Given the description of an element on the screen output the (x, y) to click on. 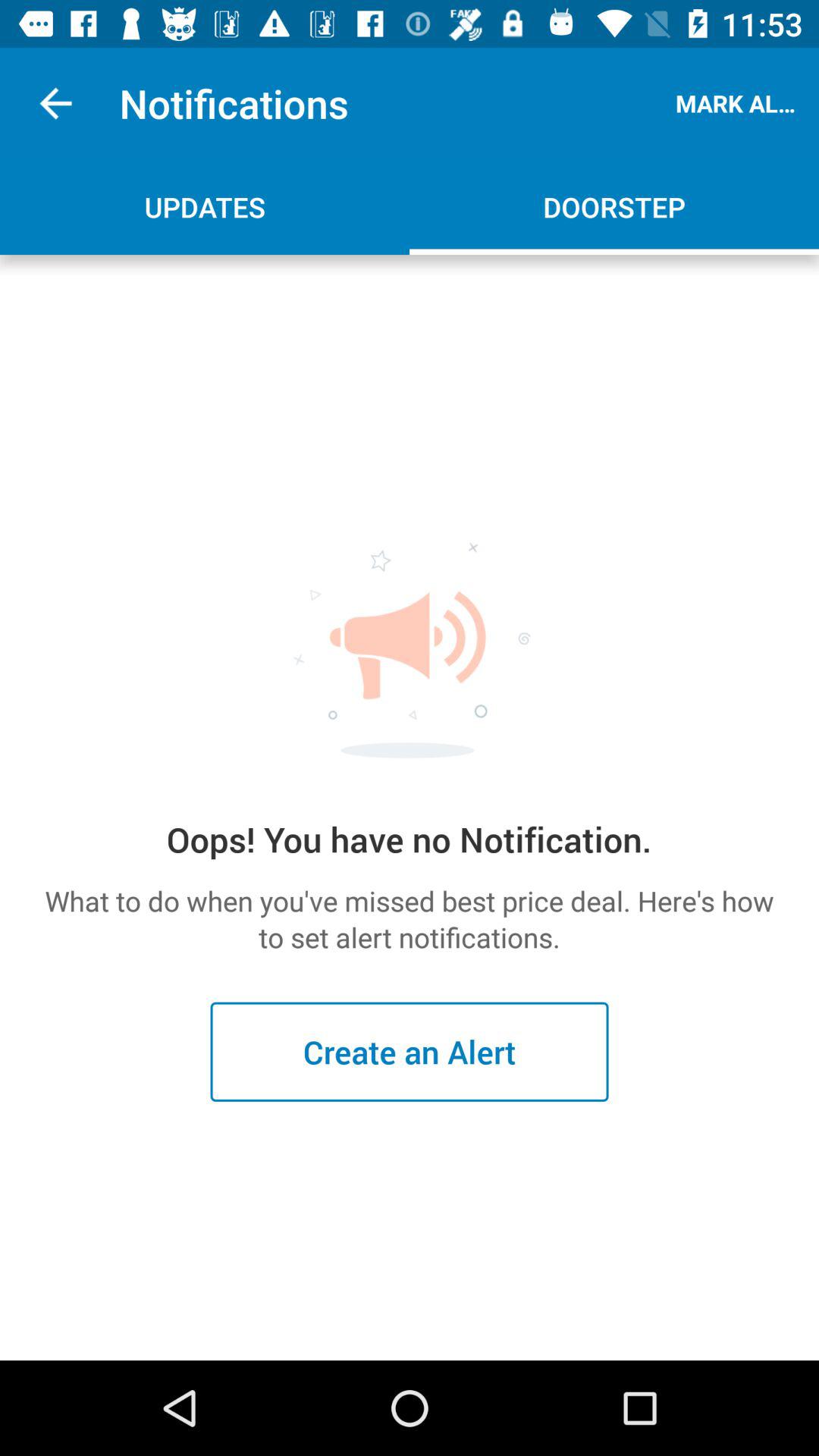
tap the icon above the updates icon (55, 103)
